Given the description of an element on the screen output the (x, y) to click on. 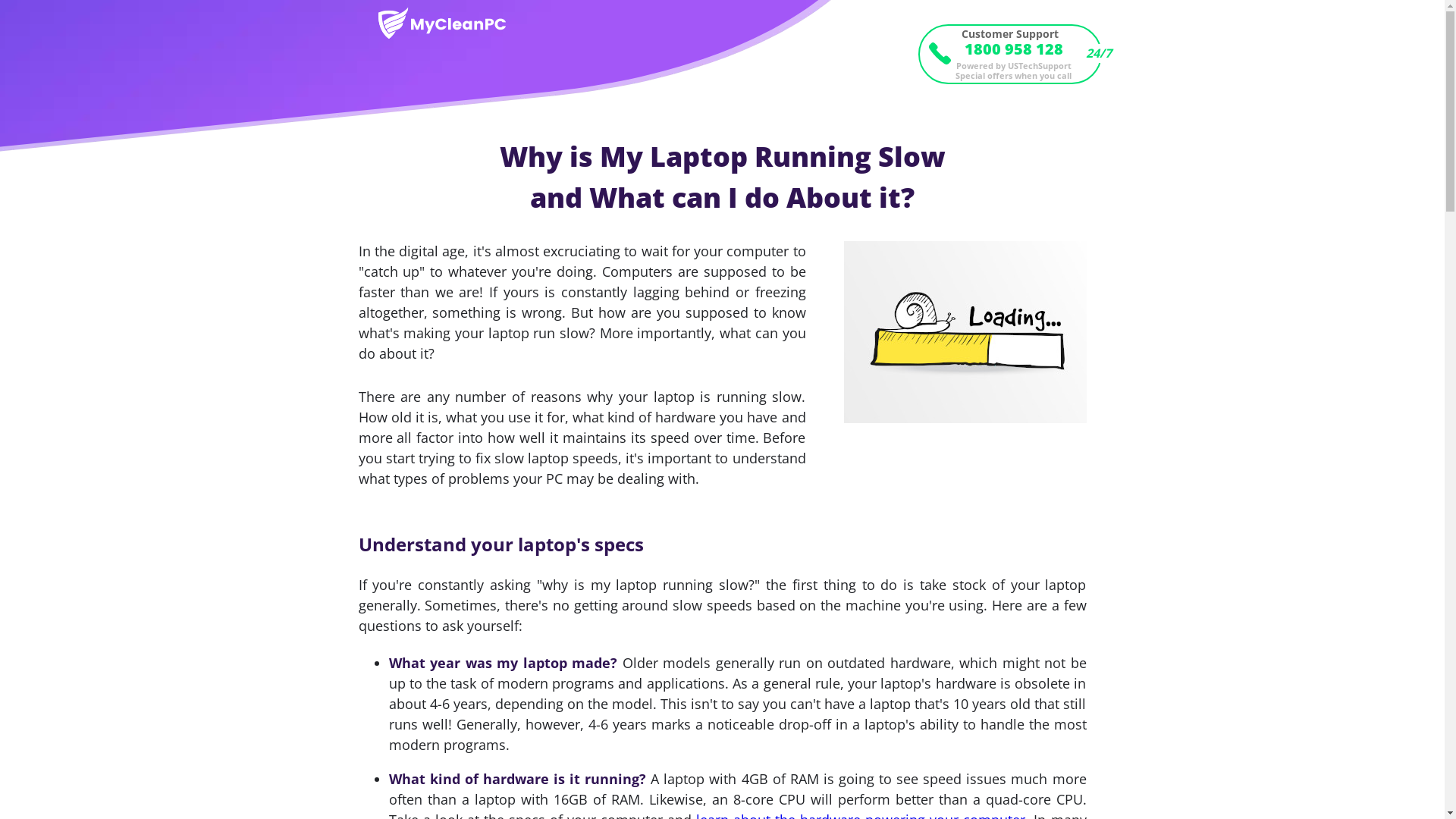
1800 958 128 Element type: text (1009, 48)
